Given the description of an element on the screen output the (x, y) to click on. 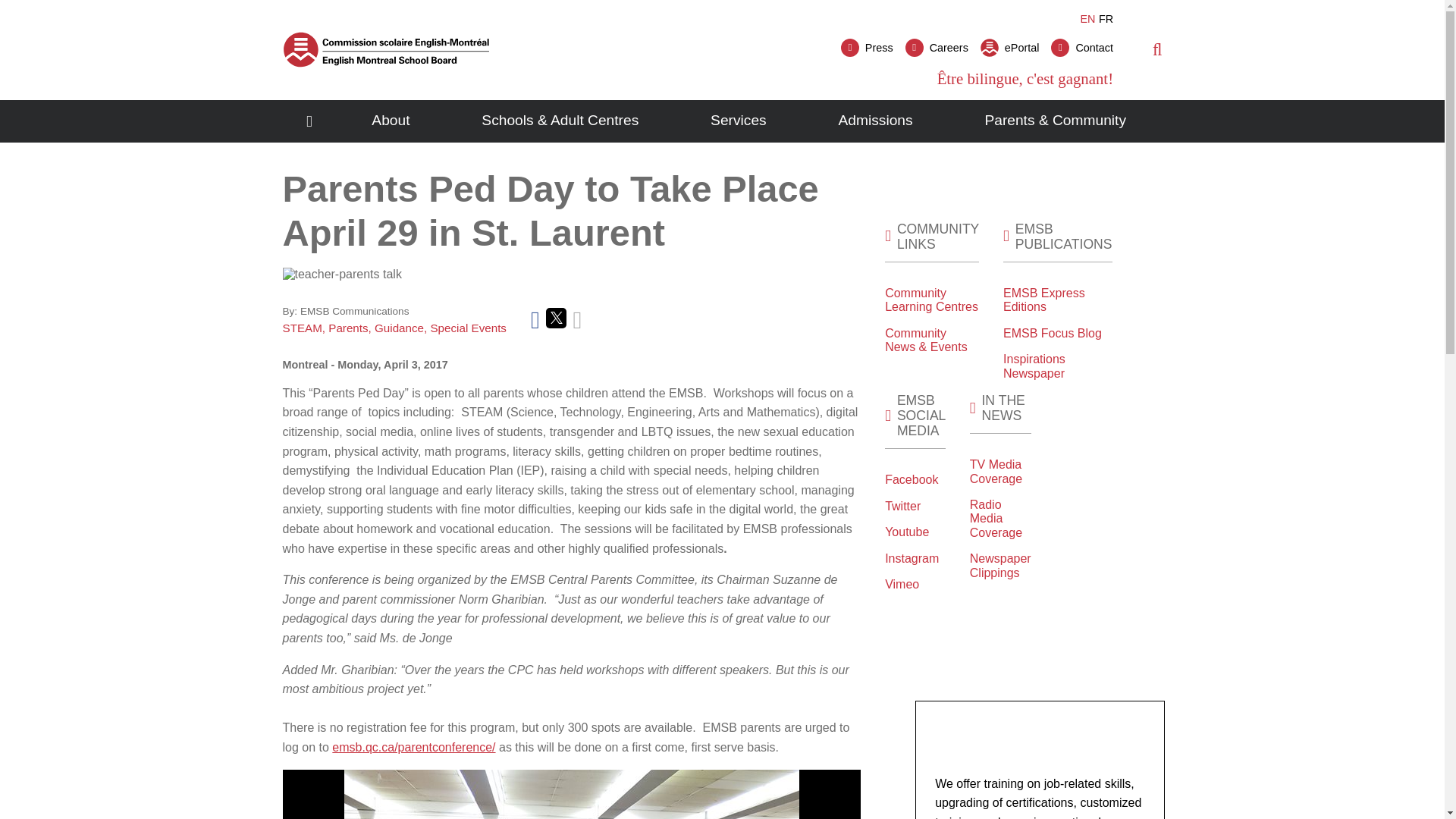
Search (1122, 104)
Info for media and journalists (867, 47)
job opportunities (936, 47)
Contact (1082, 47)
staff portal, employee services, student portal, eportal (1009, 47)
get in touch (1082, 47)
About (390, 120)
FR (1106, 19)
About (390, 120)
Careers (936, 47)
ePortal (1009, 47)
EN (1087, 19)
Press (867, 47)
